Given the description of an element on the screen output the (x, y) to click on. 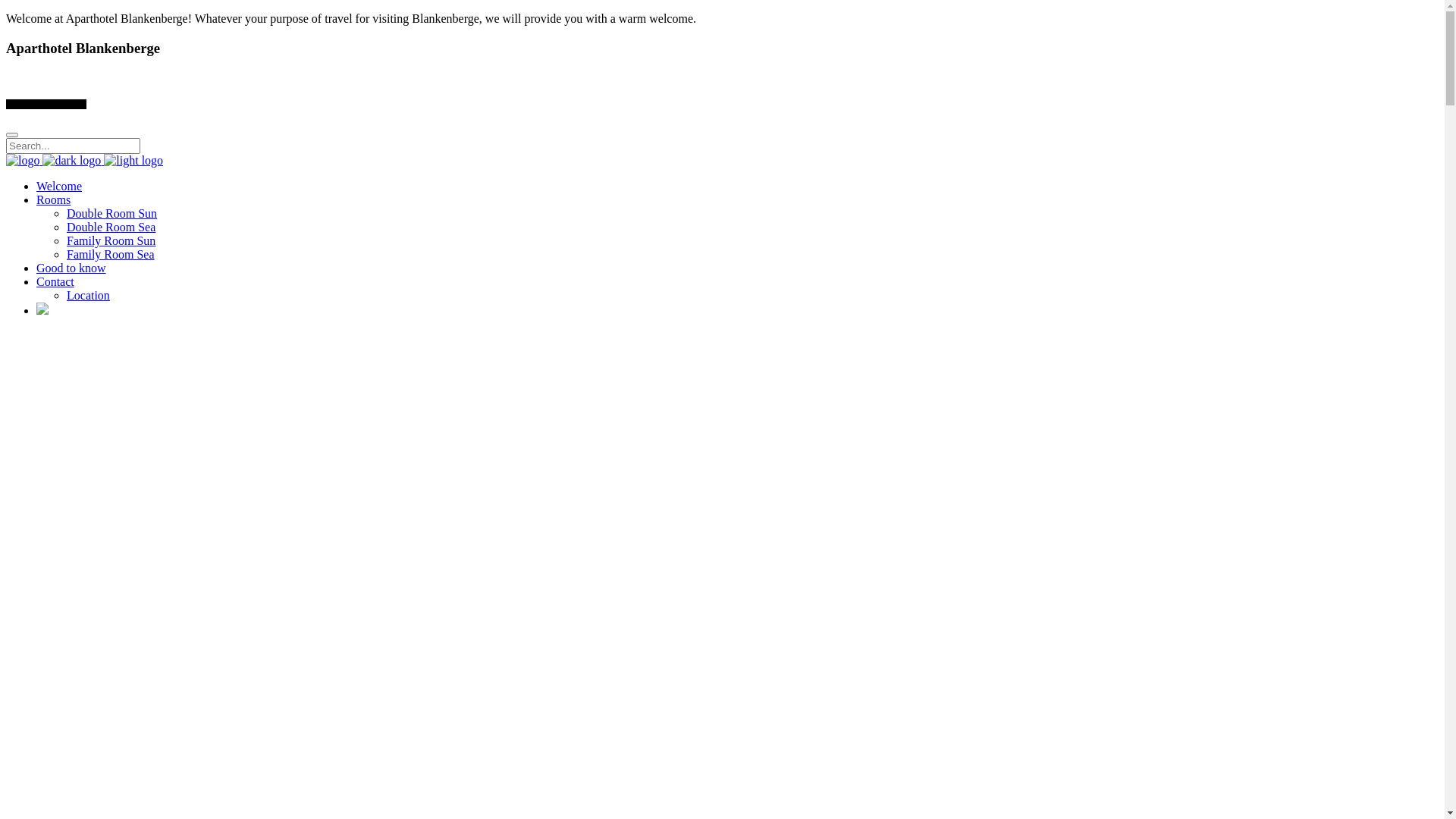
Contact Element type: text (55, 281)
Welcome Element type: text (58, 185)
Family Room Sun Element type: text (110, 240)
Location Element type: text (87, 294)
Rooms Element type: text (53, 199)
Family Room Sea Element type: text (110, 253)
Good to know Element type: text (71, 267)
Double Room Sea Element type: text (110, 226)
reception@aparthotelblankenberge.be Element type: text (98, 76)
Double Room Sun Element type: text (111, 213)
